Given the description of an element on the screen output the (x, y) to click on. 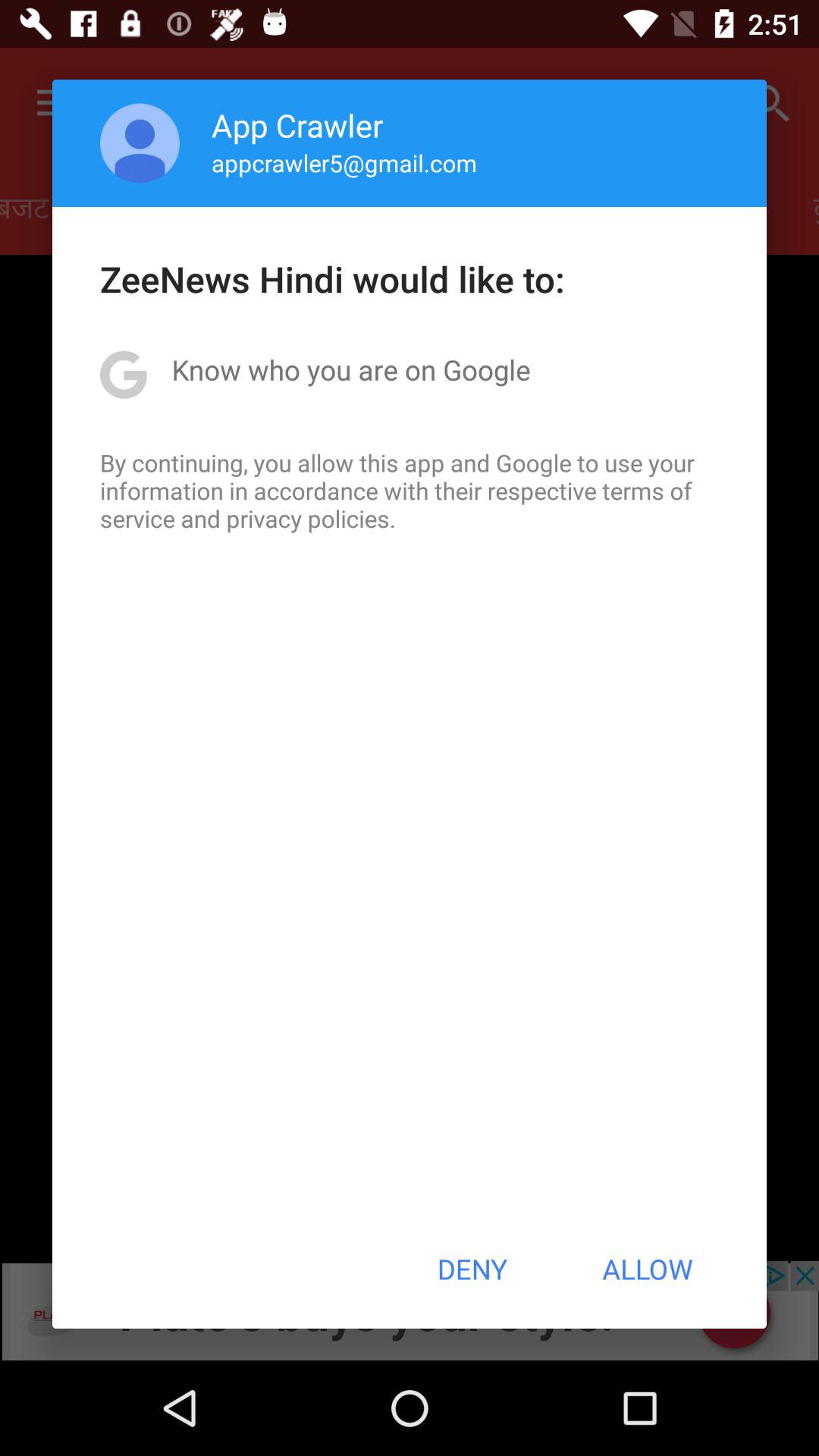
tap know who you (350, 369)
